Given the description of an element on the screen output the (x, y) to click on. 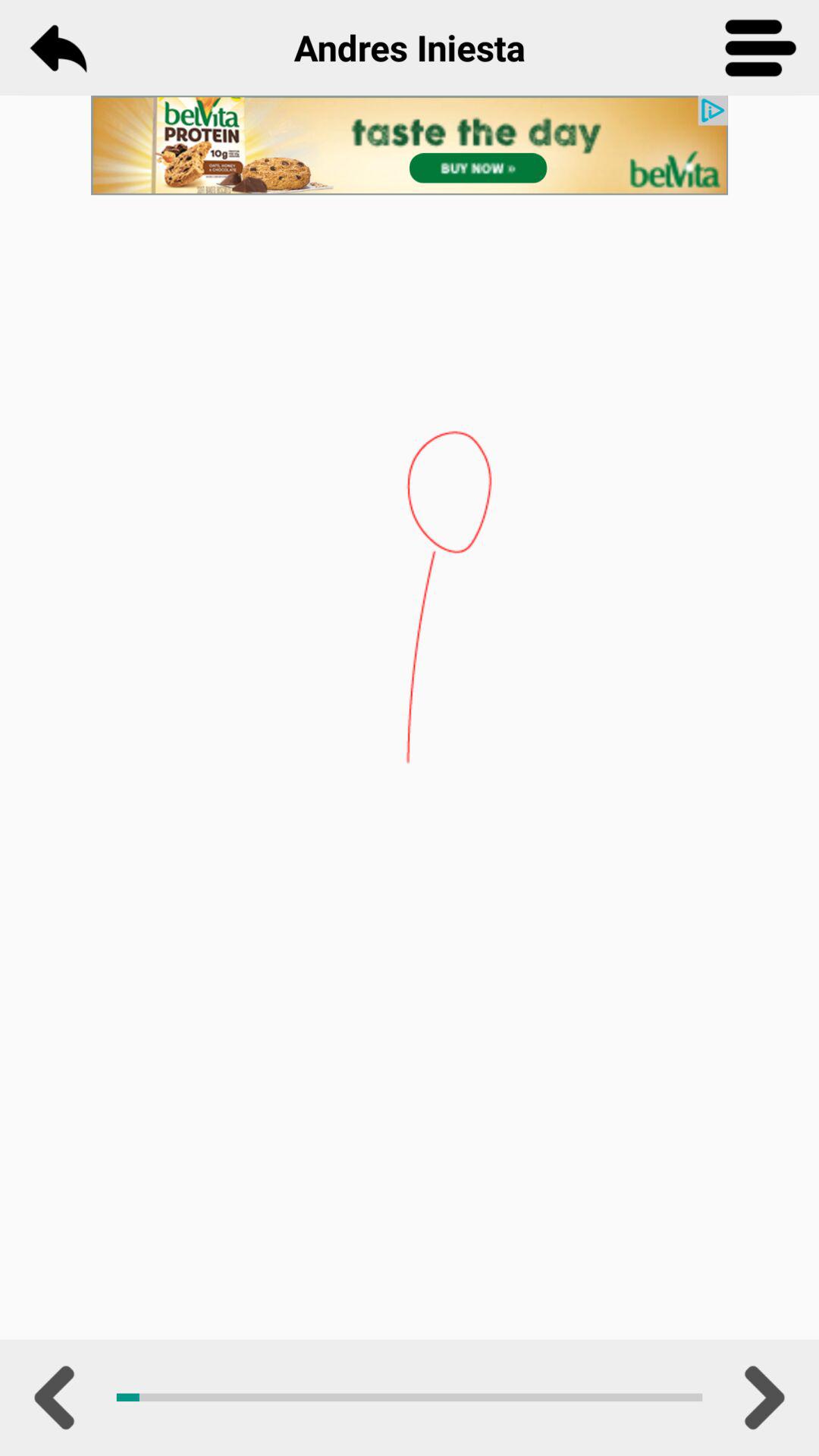
go back (58, 47)
